Given the description of an element on the screen output the (x, y) to click on. 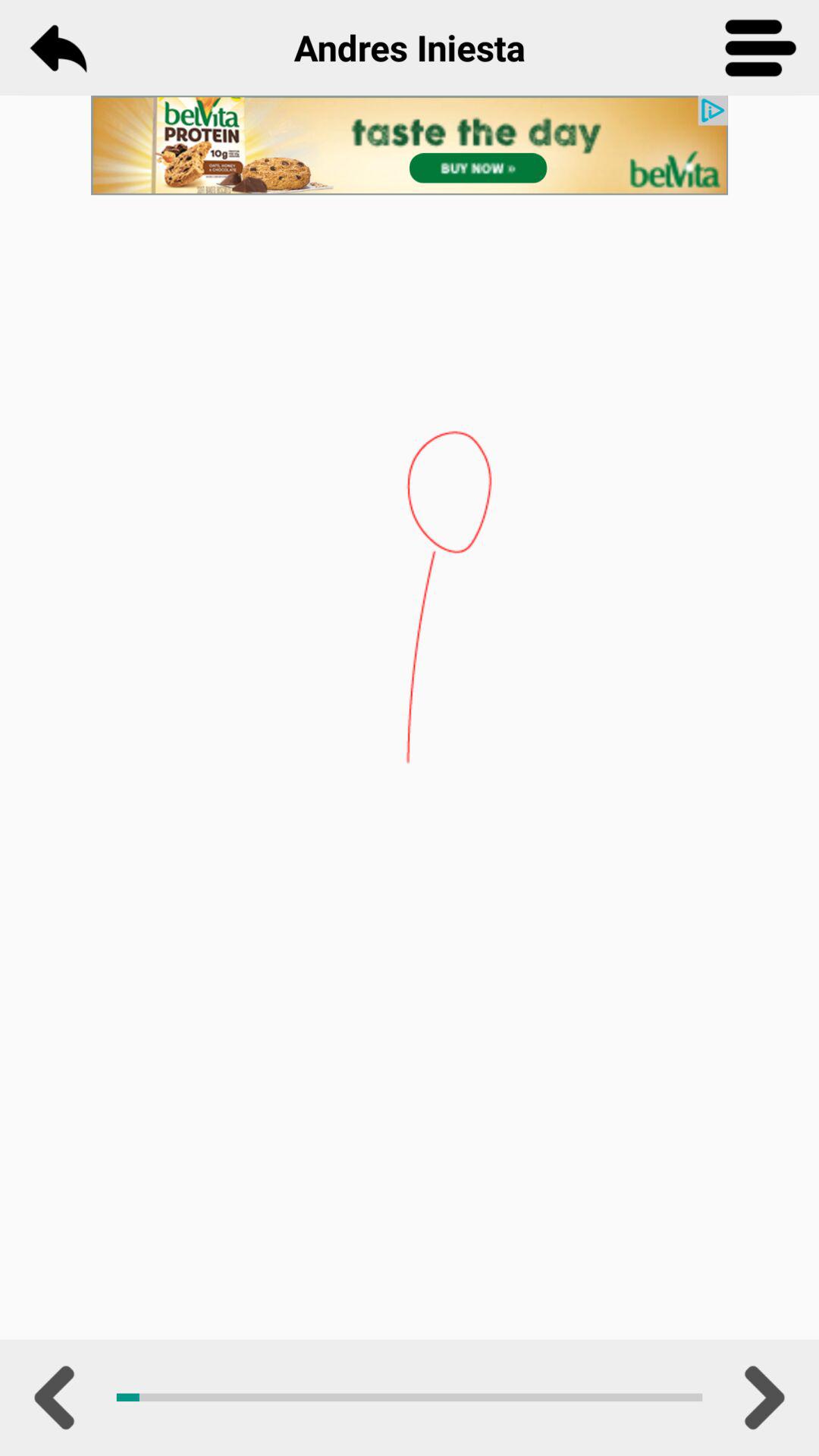
go back (58, 47)
